Given the description of an element on the screen output the (x, y) to click on. 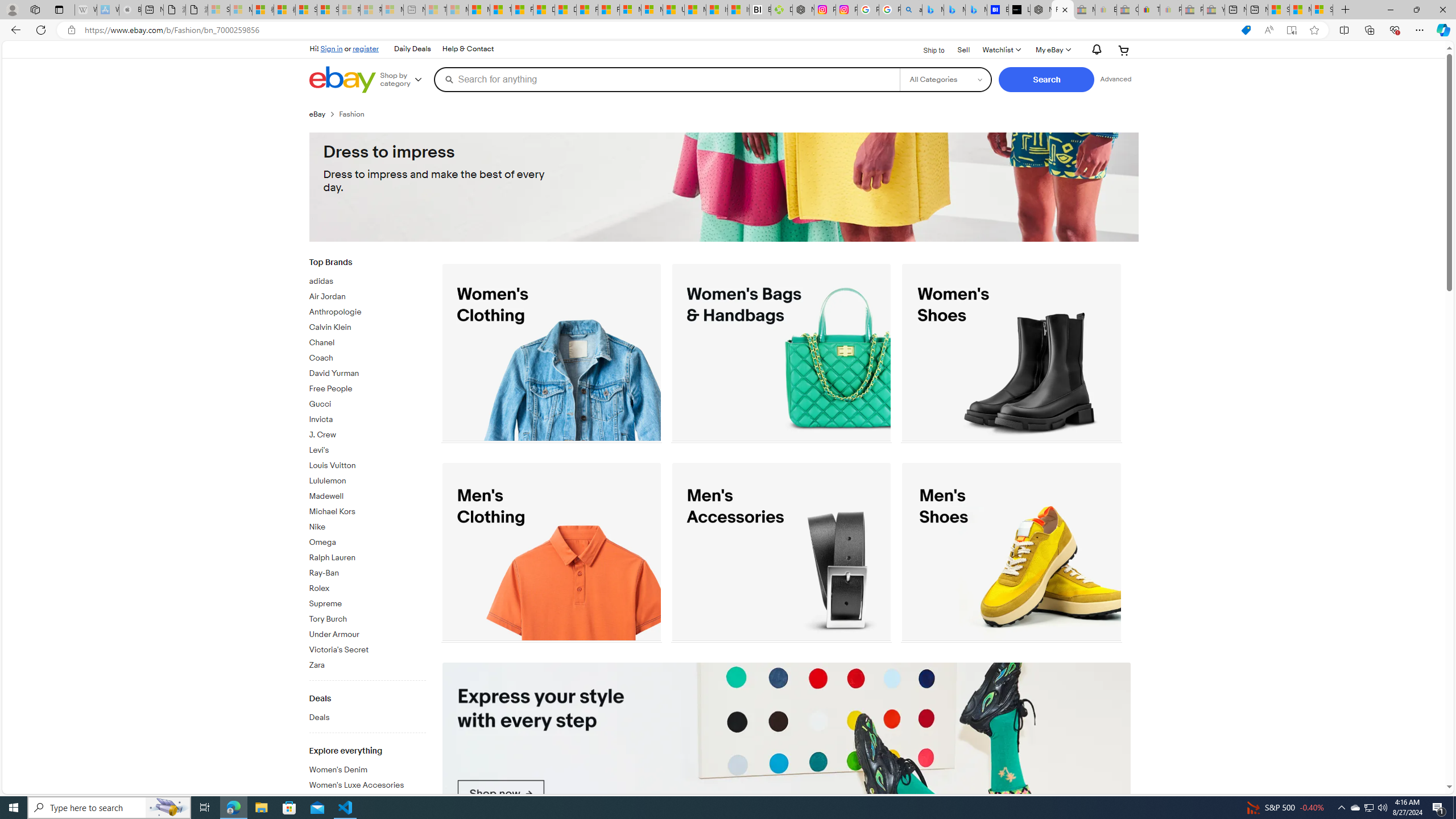
Watchlist (1000, 49)
Foo BAR | Trusted Community Engagement and Contributions (608, 9)
Under Armour (367, 634)
Air Jordan (367, 294)
Nike (367, 527)
Press Room - eBay Inc. - Sleeping (1192, 9)
Expand Cart (1123, 49)
Rolex (367, 586)
Supreme (367, 601)
Descarga Driver Updater (781, 9)
David Yurman (367, 371)
Omega (367, 540)
Lululemon (367, 480)
